Given the description of an element on the screen output the (x, y) to click on. 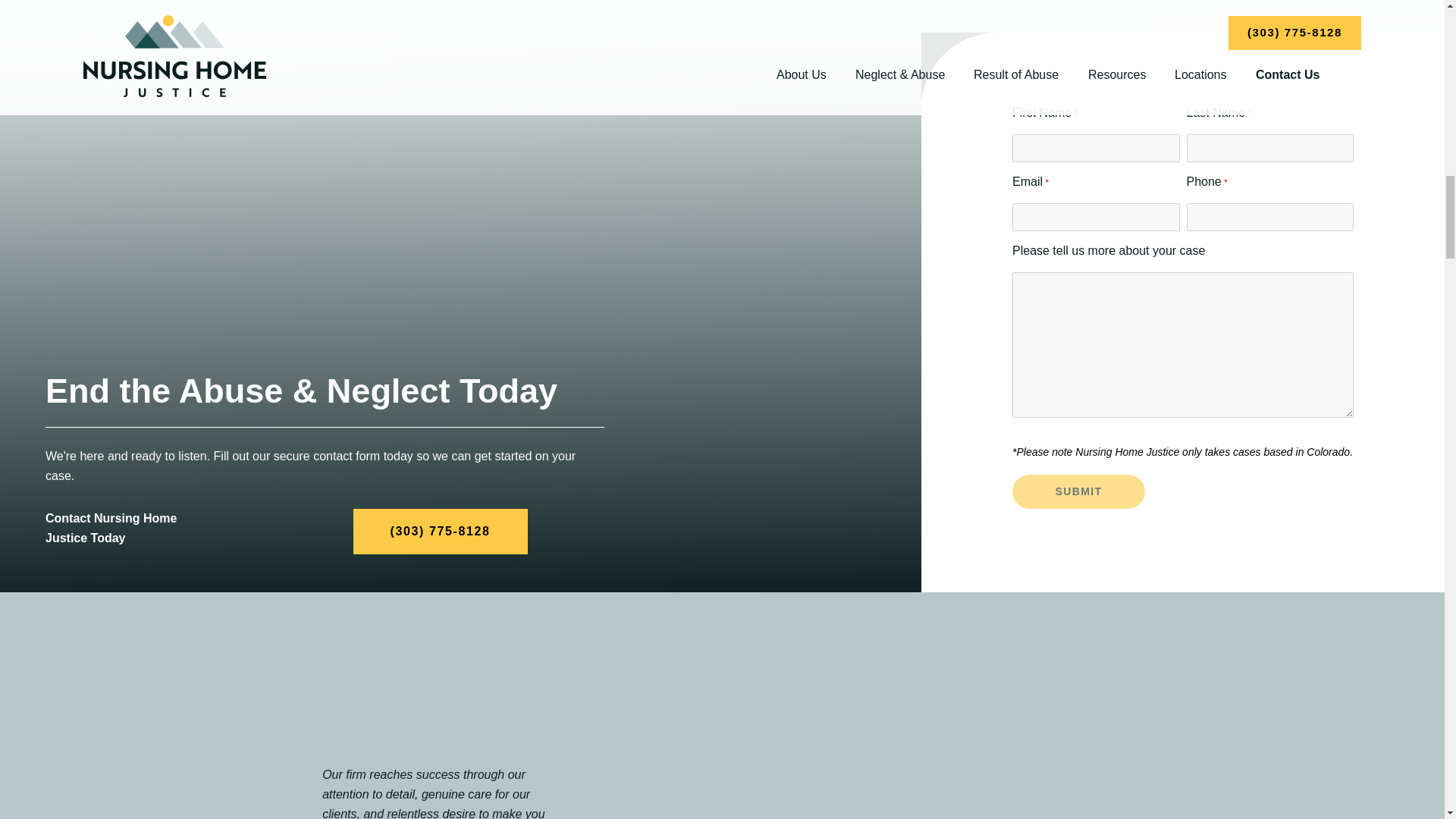
Submit (1077, 491)
